Given the description of an element on the screen output the (x, y) to click on. 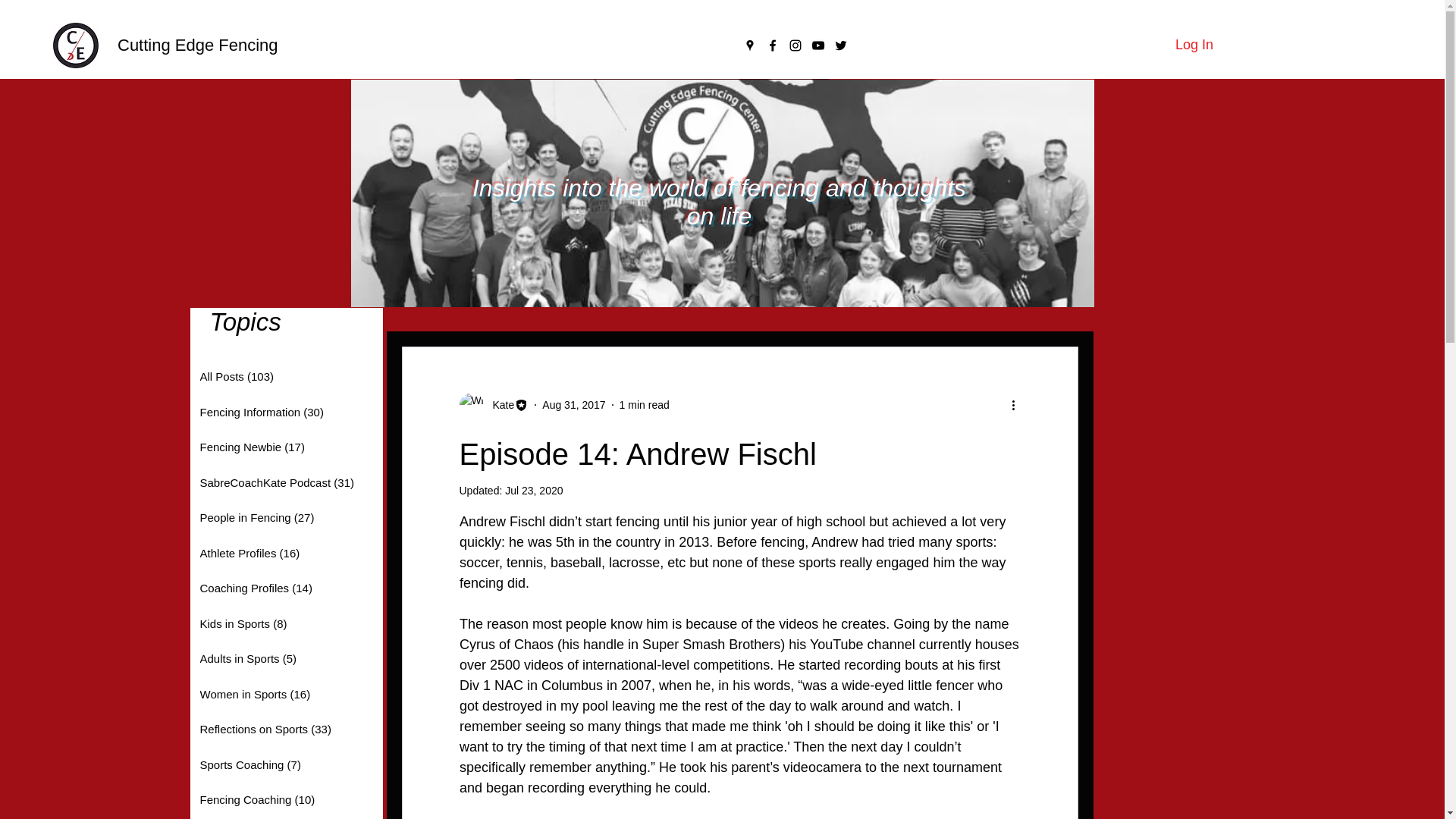
Log In (1194, 45)
Aug 31, 2017 (573, 404)
1 min read (644, 404)
Jul 23, 2020 (533, 490)
Kate (499, 405)
Cutting Edge Fencing (197, 45)
